Given the description of an element on the screen output the (x, y) to click on. 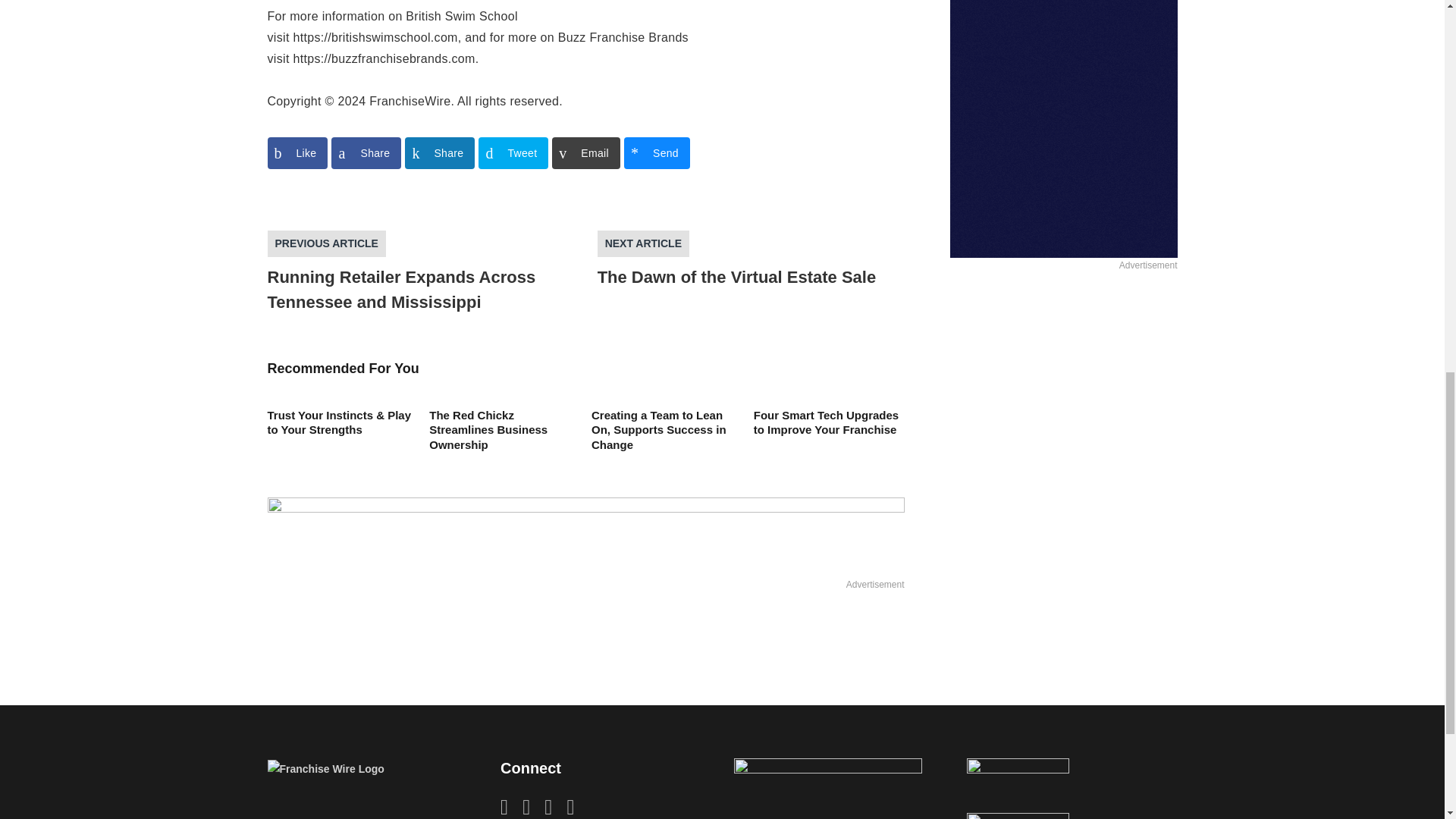
Share on Email (585, 152)
Share on Share (439, 152)
Share on Share (366, 152)
Share on Tweet (513, 152)
Share on Send (657, 152)
Share on Like (296, 152)
